Given the description of an element on the screen output the (x, y) to click on. 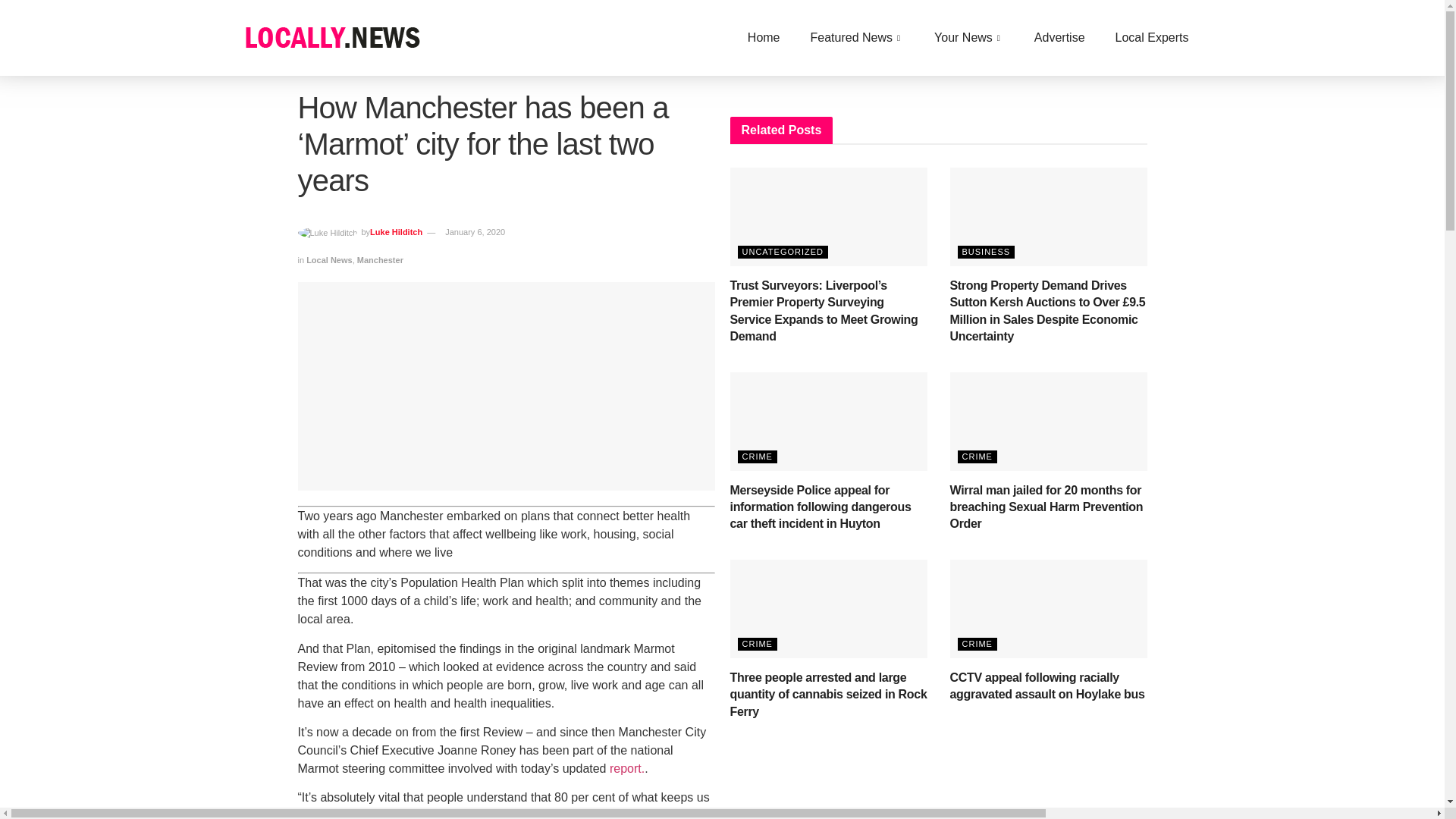
Featured News (857, 37)
Your News (968, 37)
Advertise (1059, 37)
Local Experts (1152, 37)
Home (763, 37)
